Given the description of an element on the screen output the (x, y) to click on. 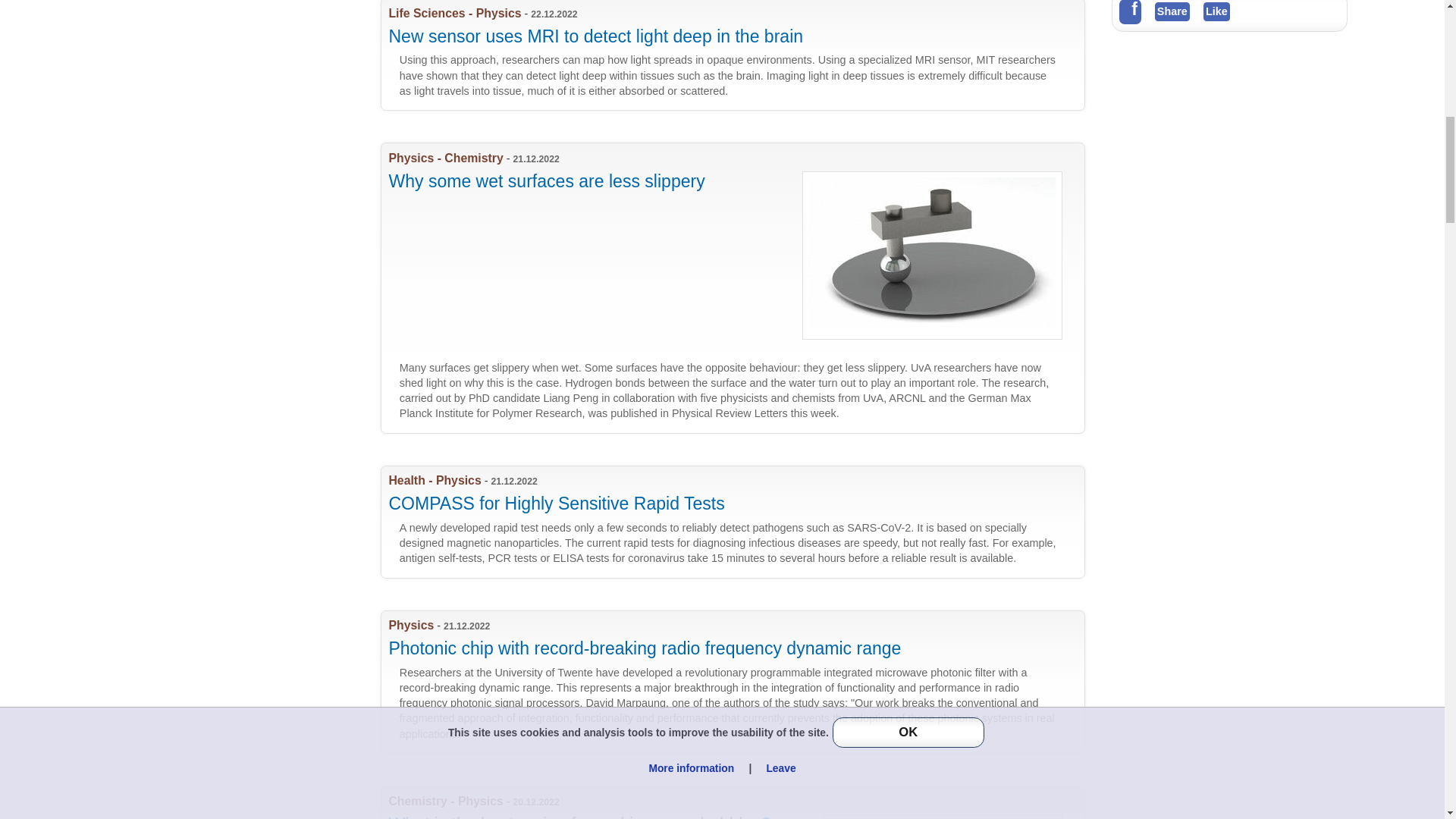
CNRS (738, 802)
MIT (738, 55)
UNI-WUERZBURG (738, 522)
UTWENTE (738, 681)
